Given the description of an element on the screen output the (x, y) to click on. 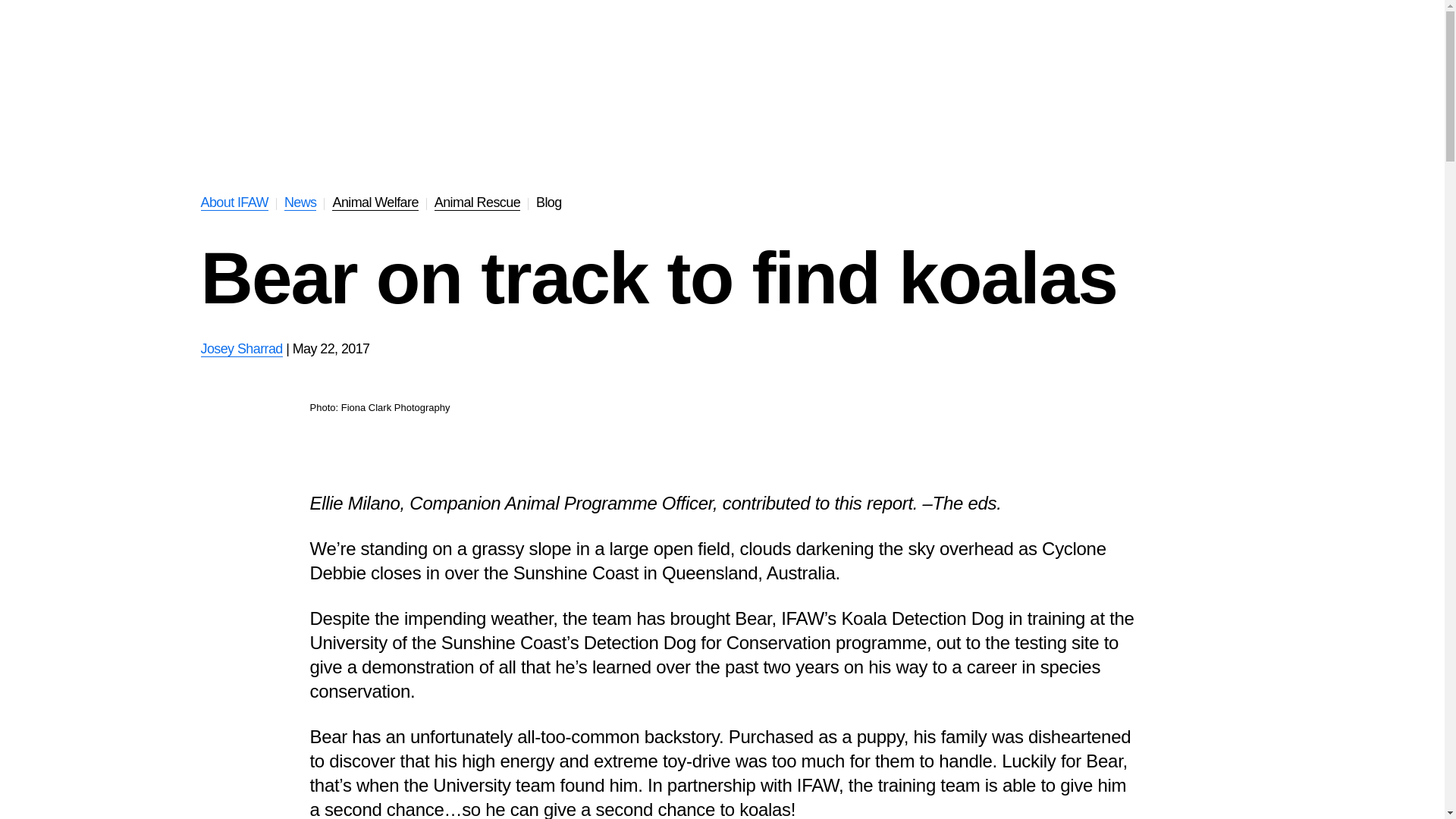
Josey Sharrad (241, 349)
About IFAW (233, 202)
Animal Rescue (476, 202)
Animal Welfare (374, 202)
News (300, 202)
